Given the description of an element on the screen output the (x, y) to click on. 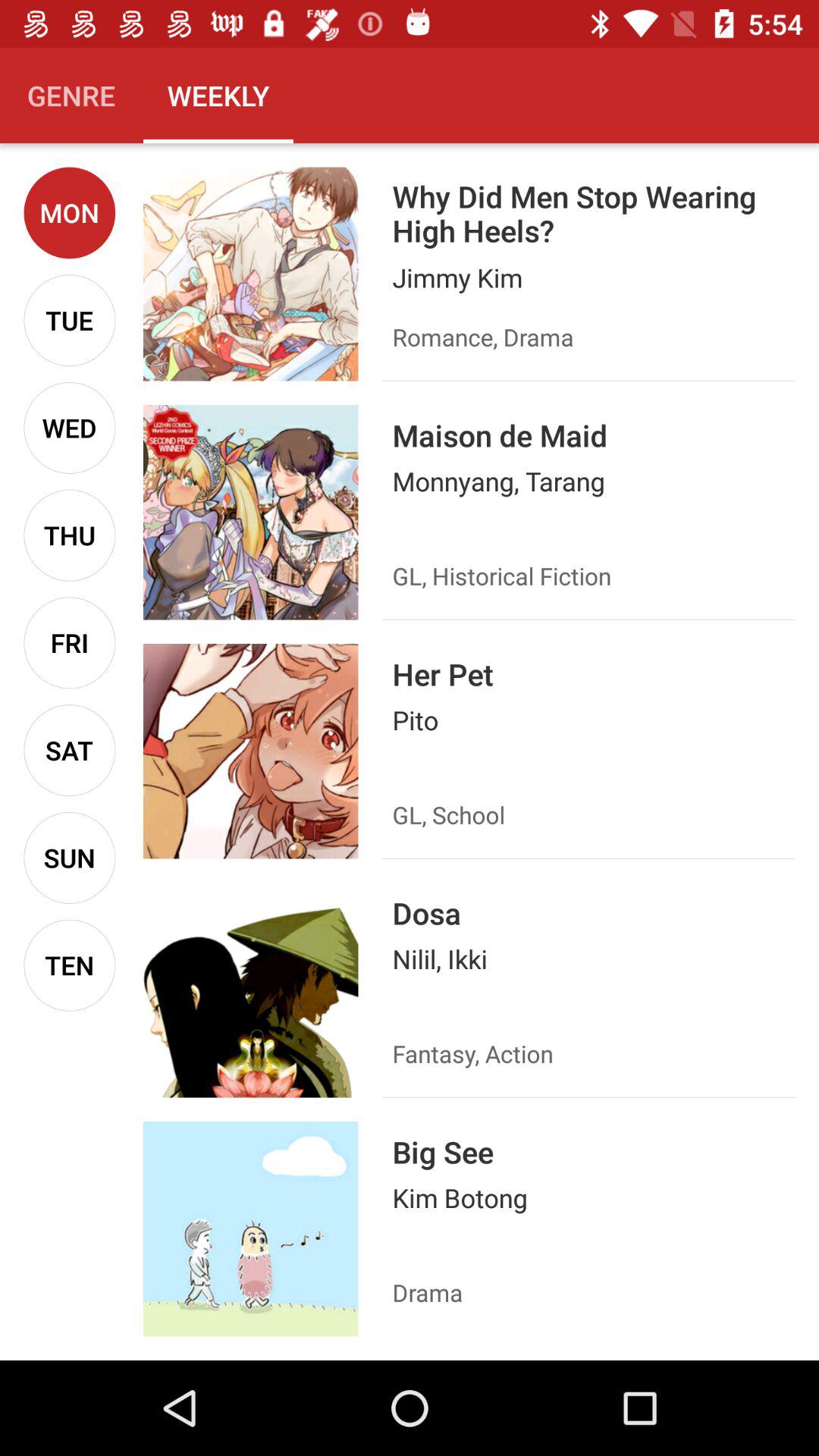
turn off mon (69, 212)
